Given the description of an element on the screen output the (x, y) to click on. 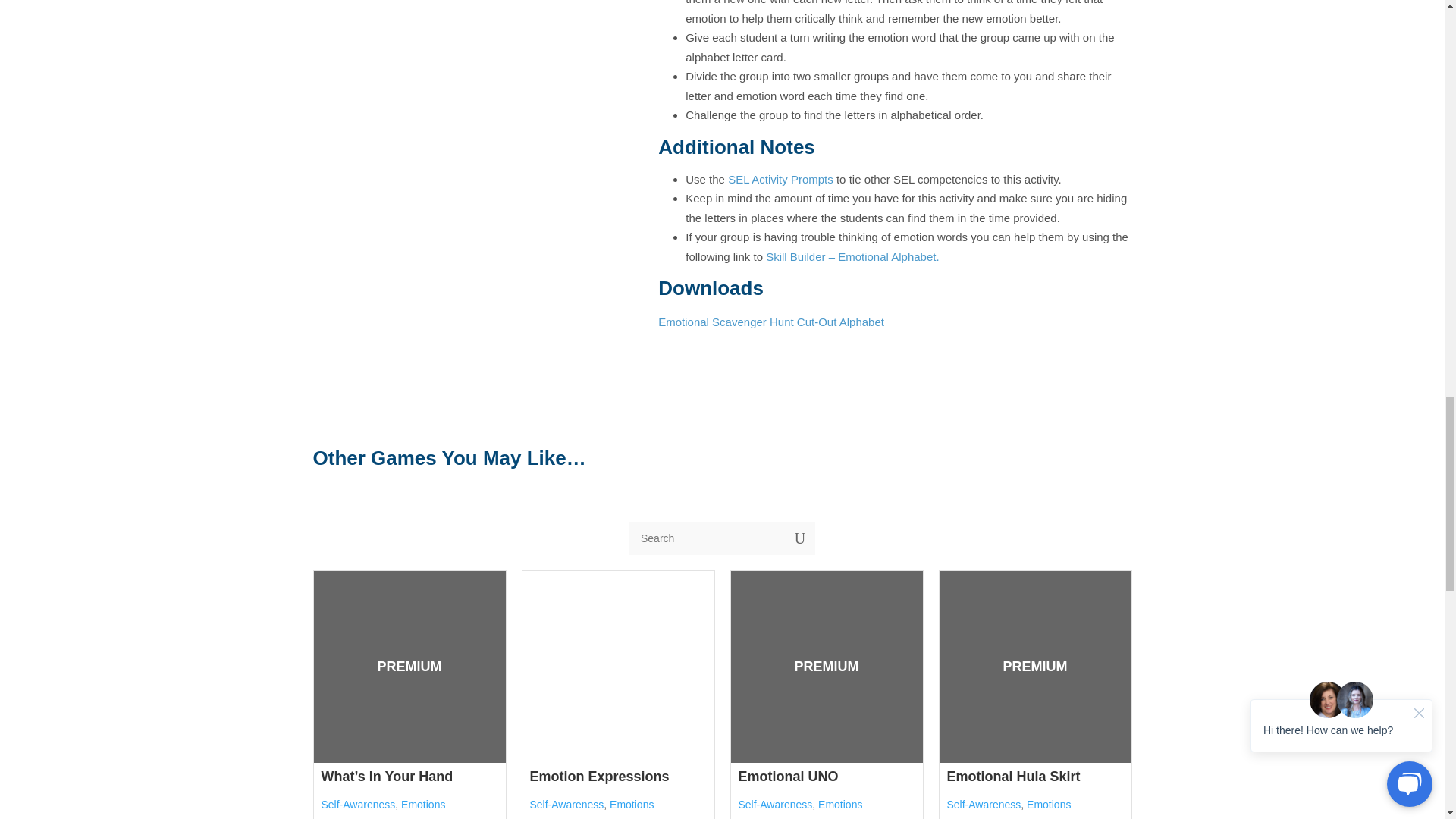
Emotional Scavenger Hunt Cut-Out Alphabet (770, 321)
Self-Awareness (358, 804)
Self-Awareness (566, 804)
SEL Activity Prompts (780, 178)
Self-Awareness (775, 804)
Emotions (423, 804)
Emotions (631, 804)
Emotions (839, 804)
